Given the description of an element on the screen output the (x, y) to click on. 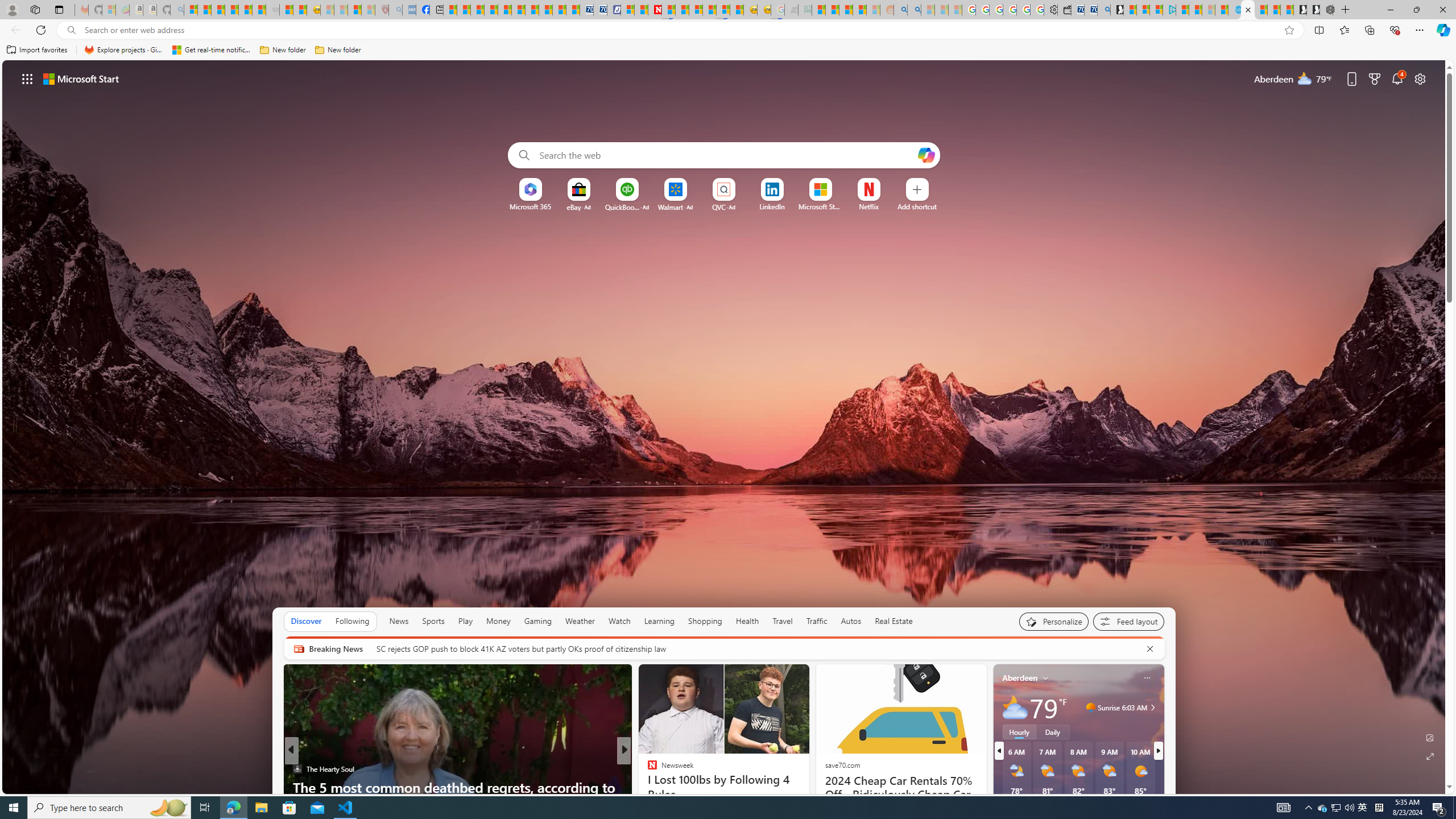
Edit Background (1430, 737)
App launcher (27, 78)
Favorites bar (728, 49)
Daily (1052, 731)
talker (647, 768)
New Report Confirms 2023 Was Record Hot | Watch (245, 9)
